Given the description of an element on the screen output the (x, y) to click on. 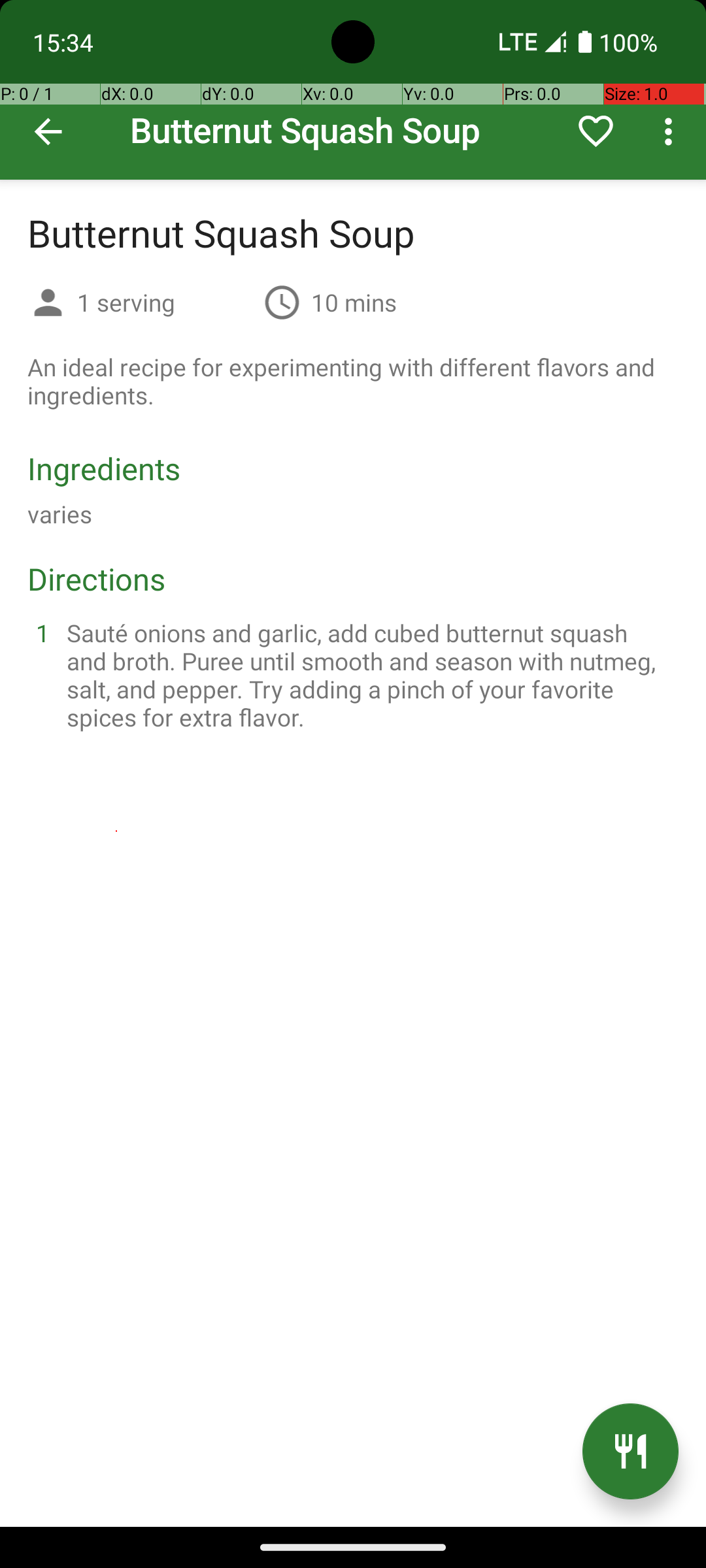
varies Element type: android.widget.TextView (59, 513)
